Given the description of an element on the screen output the (x, y) to click on. 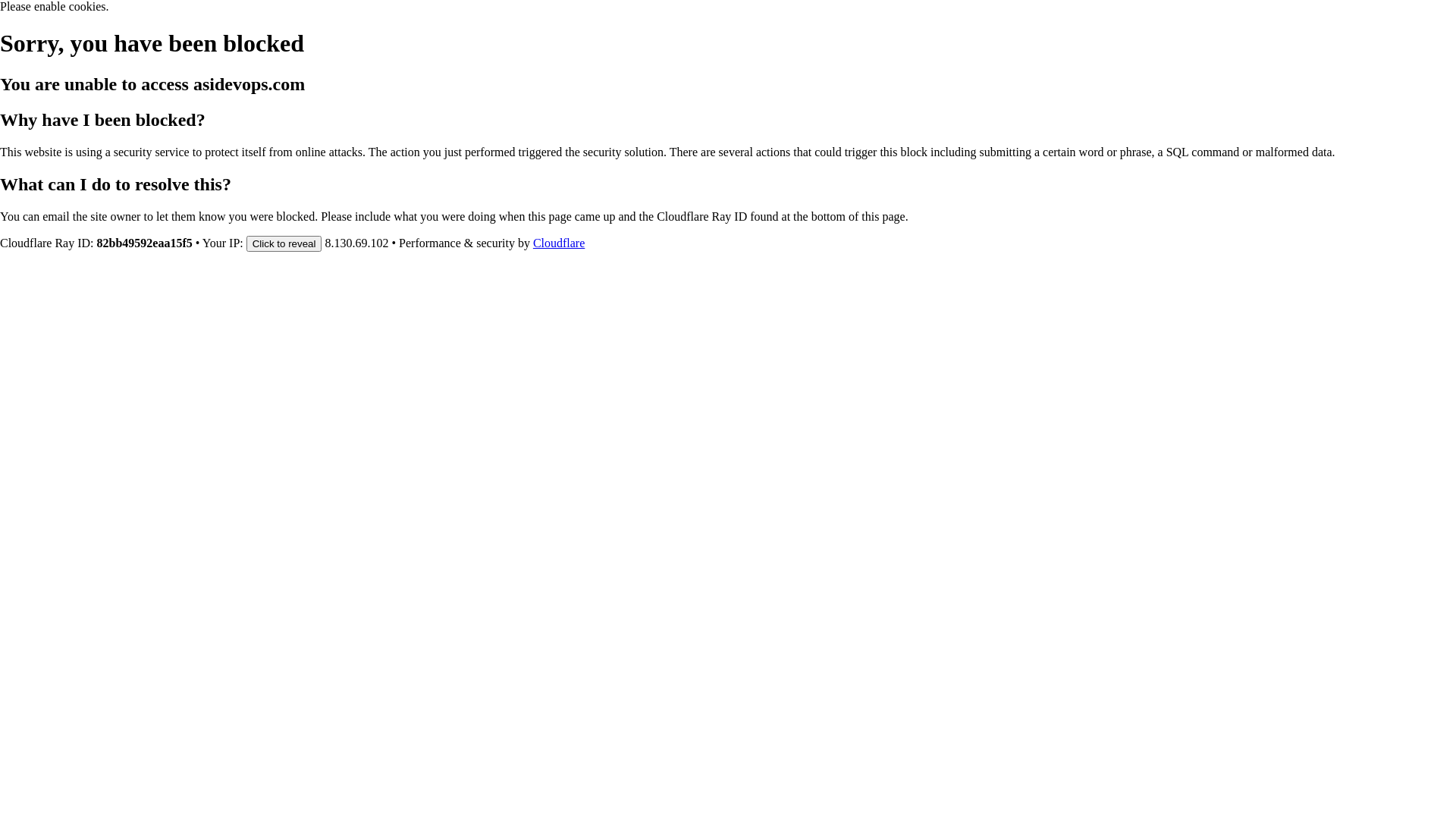
Cloudflare Element type: text (558, 242)
Click to reveal Element type: text (284, 243)
